Given the description of an element on the screen output the (x, y) to click on. 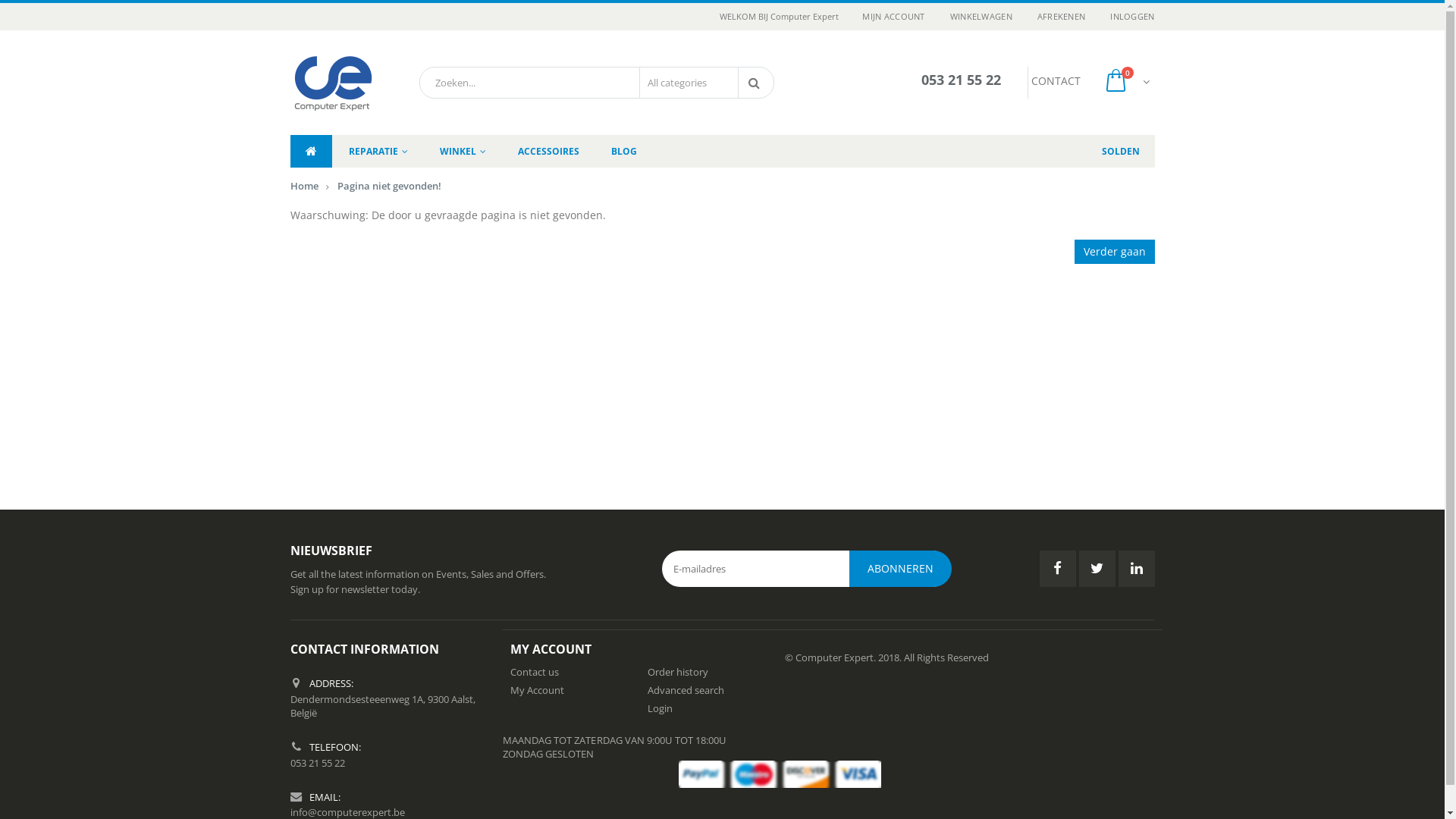
SOLDEN Element type: text (1119, 150)
REPARATIE Element type: text (378, 150)
WINKELWAGEN Element type: text (980, 16)
ACCESSOIRES Element type: text (547, 150)
Verder gaan Element type: text (1113, 251)
Login Element type: text (659, 708)
WINKEL Element type: text (462, 150)
MIJN ACCOUNT Element type: text (892, 16)
Advanced search Element type: text (685, 690)
INLOGGEN Element type: text (1126, 16)
abonneren Element type: text (900, 568)
Search Element type: hover (756, 82)
Computer Expert Element type: hover (331, 82)
Contact us Element type: text (533, 671)
Order history Element type: text (677, 671)
My Account Element type: text (536, 690)
AFREKENEN Element type: text (1061, 16)
BLOG Element type: text (624, 150)
Home Element type: text (303, 185)
CONTACT Element type: text (1055, 80)
Pagina niet gevonden! Element type: text (388, 185)
